Given the description of an element on the screen output the (x, y) to click on. 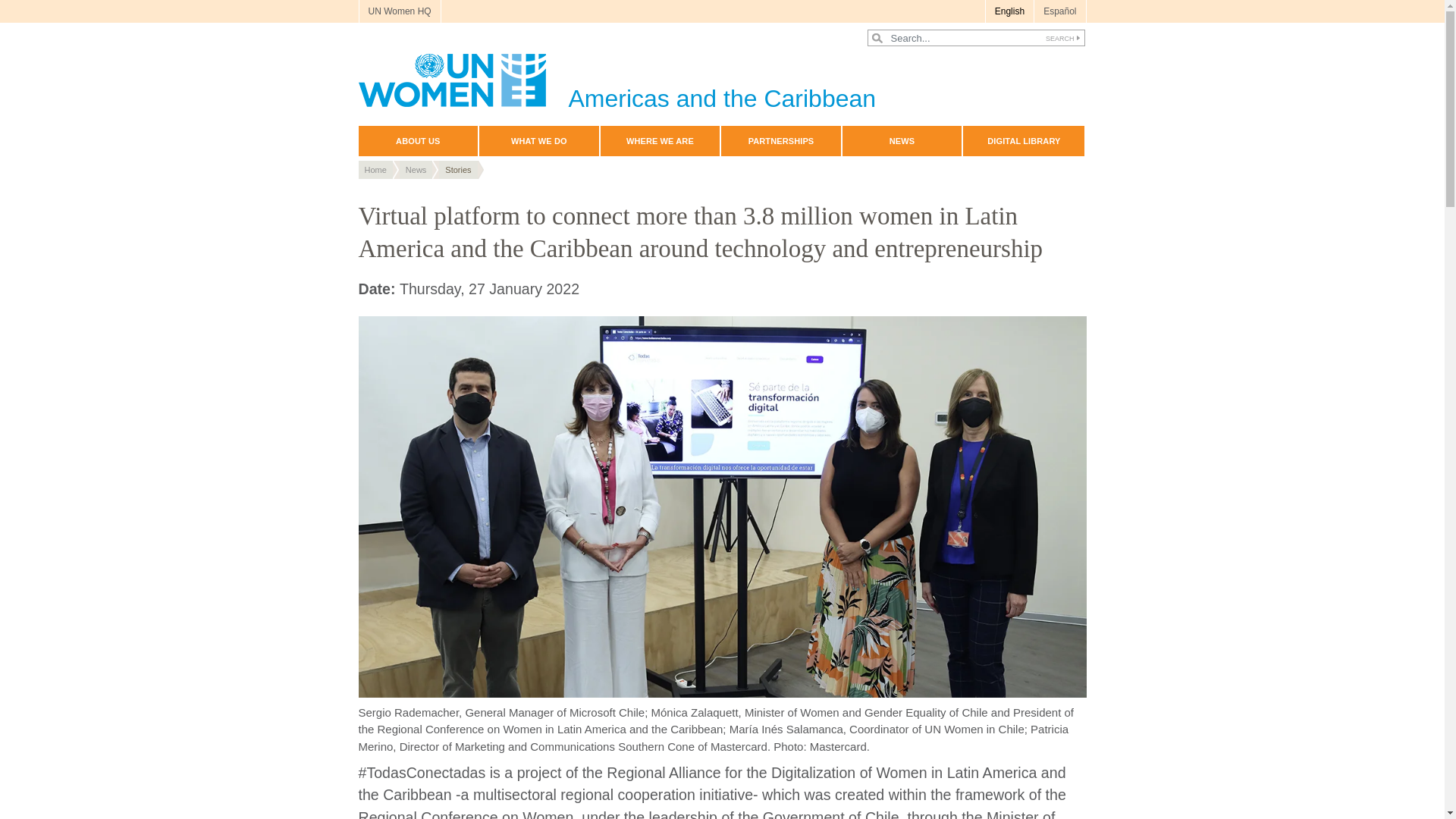
Search (1060, 38)
UN Women (617, 80)
